Given the description of an element on the screen output the (x, y) to click on. 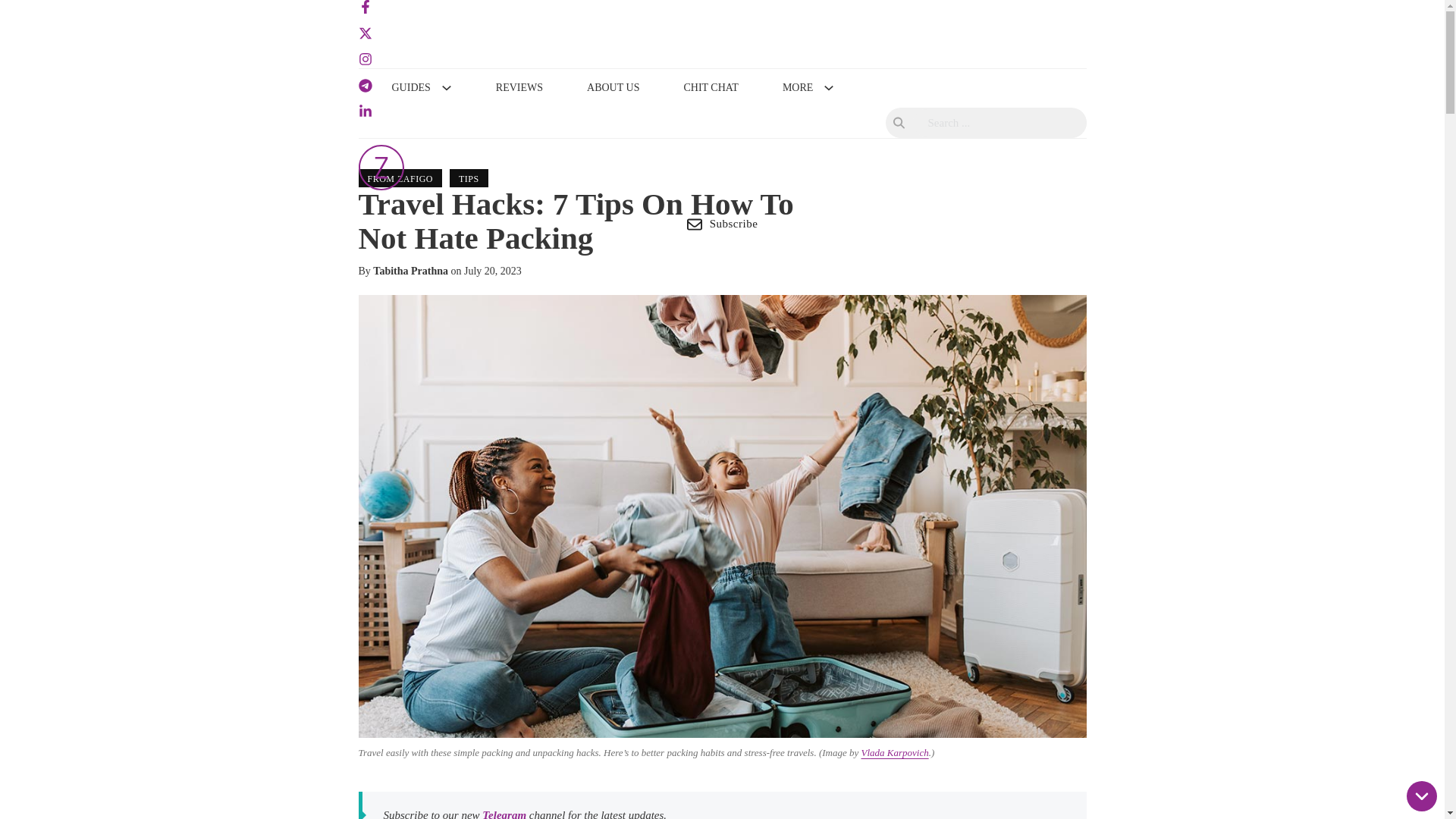
REVIEWS (518, 87)
MORE (797, 87)
GUIDES (410, 87)
CHIT CHAT (710, 87)
Subscribe (722, 223)
ABOUT US (612, 87)
Posts by Tabitha Prathna (410, 270)
